Given the description of an element on the screen output the (x, y) to click on. 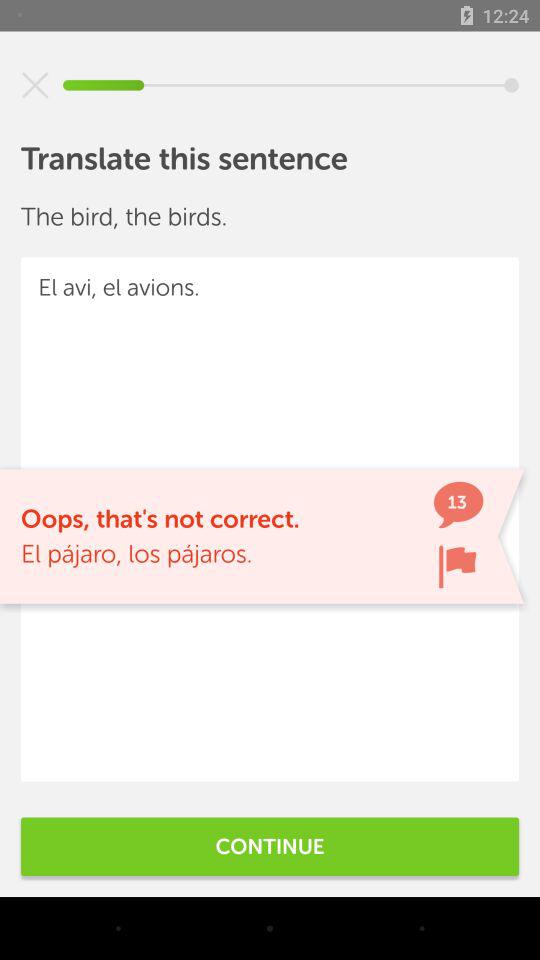
close (35, 85)
